Given the description of an element on the screen output the (x, y) to click on. 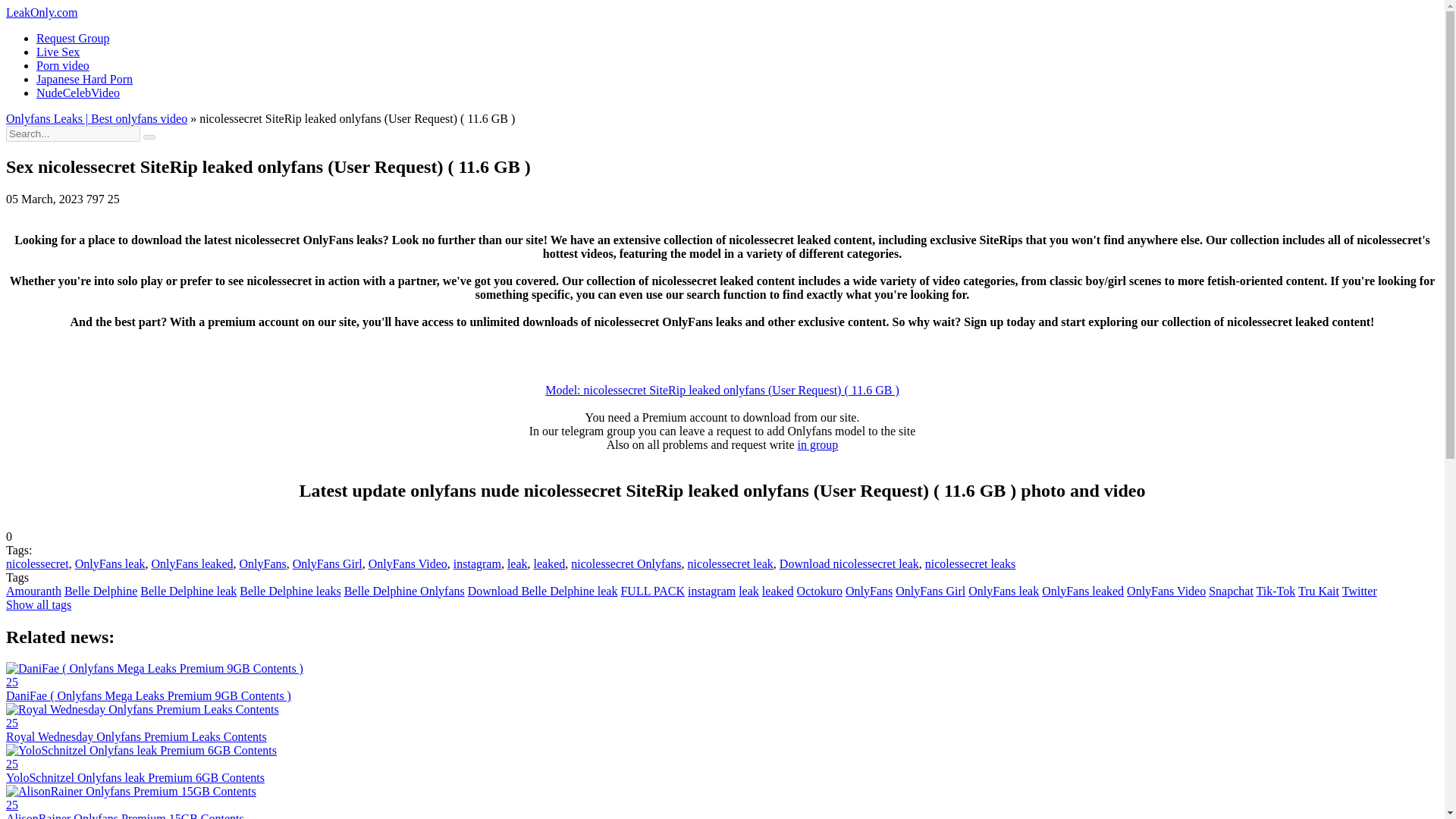
OnlyFans leak (110, 563)
Publication found: 22 (290, 590)
Publication found: 23934 (930, 590)
OnlyFans (868, 590)
Publication found: 22 (542, 590)
OnlyFans Girl (327, 563)
Request Group (72, 38)
Publication found: 23934 (868, 590)
Japanese Hard Porn (84, 78)
Publication found: 23892 (748, 590)
